Given the description of an element on the screen output the (x, y) to click on. 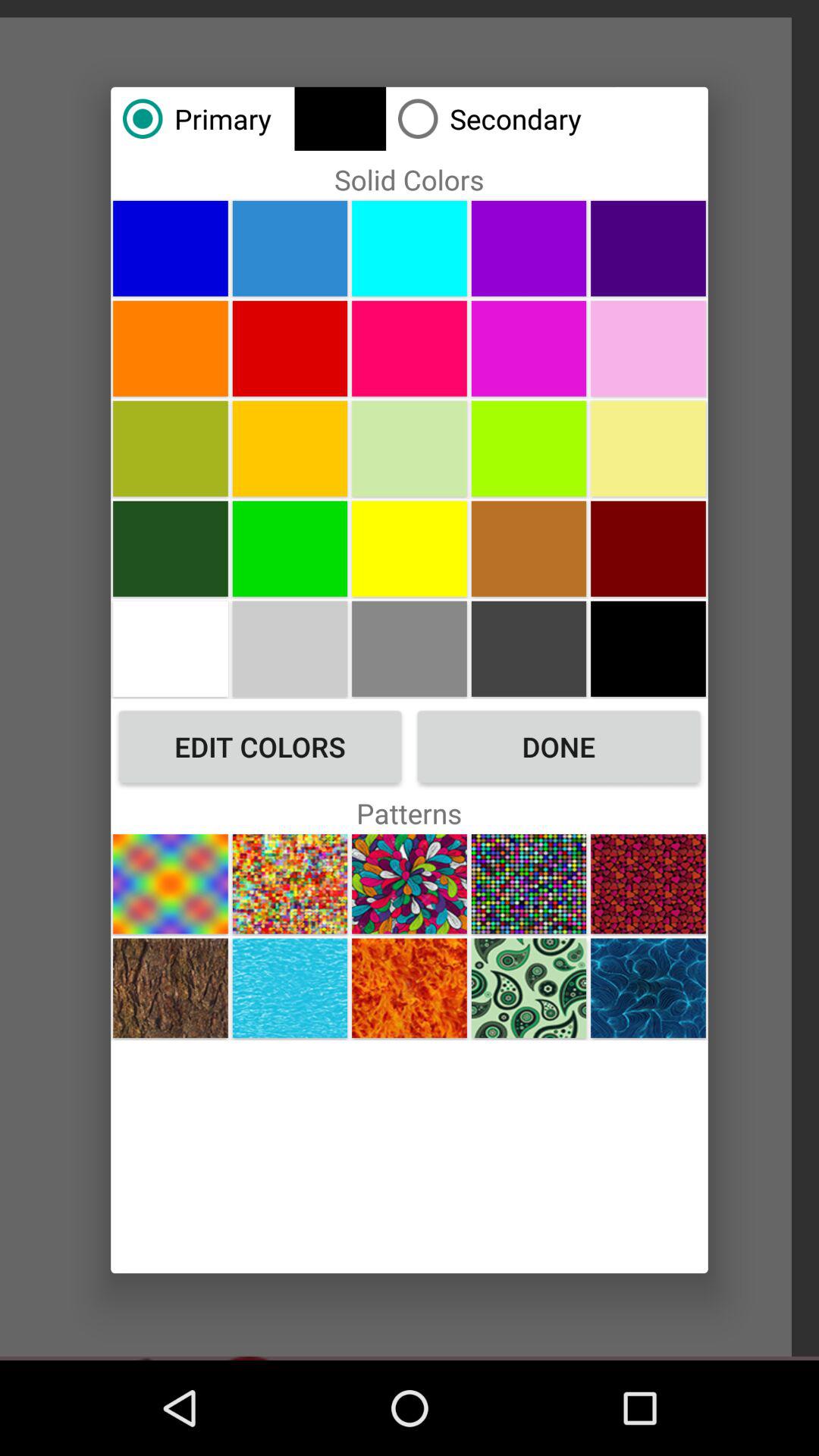
change color to orange (170, 348)
